Given the description of an element on the screen output the (x, y) to click on. 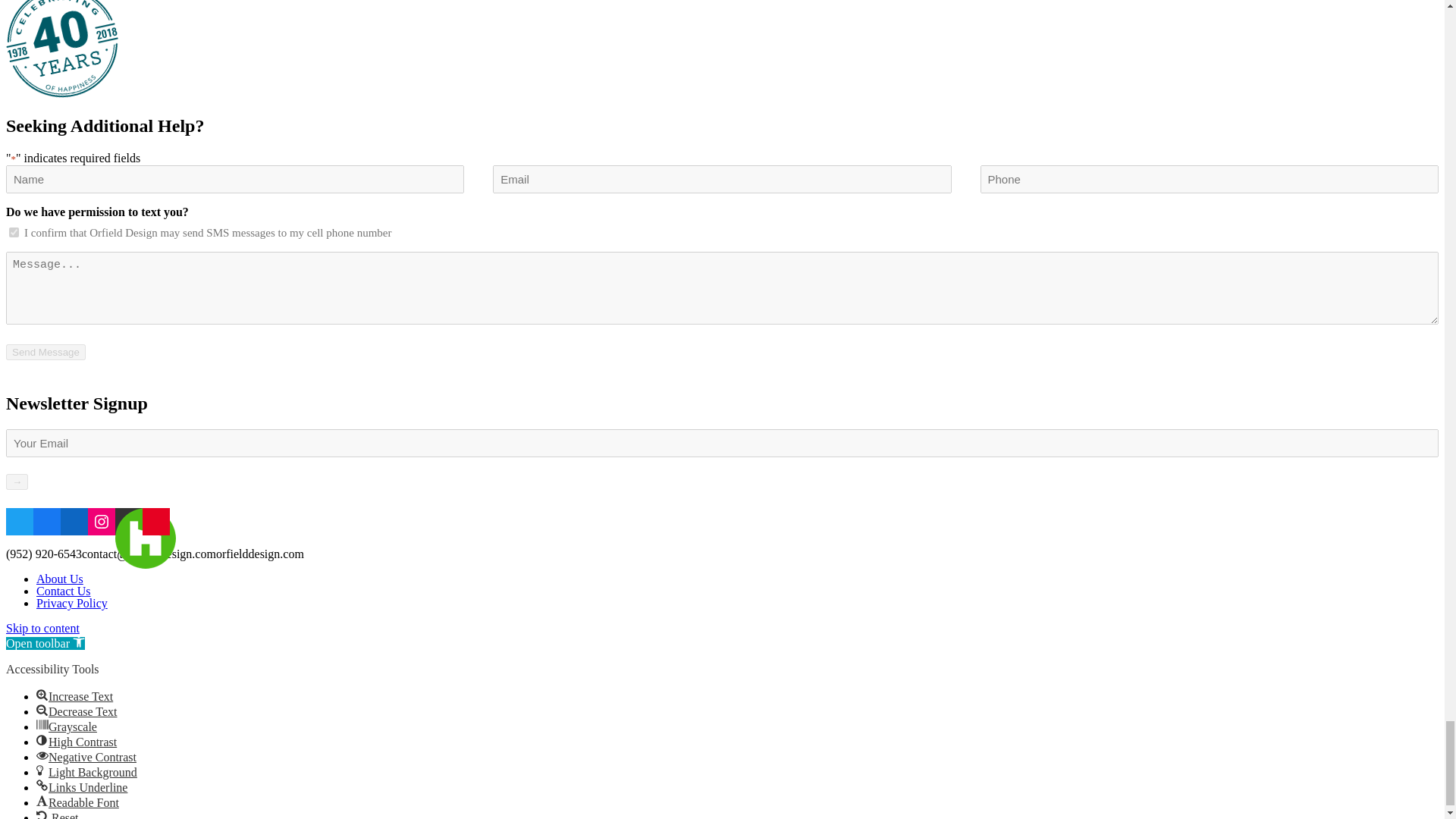
Send Message (45, 351)
Decrease Text (42, 709)
Links Underline (42, 785)
Send Message (45, 351)
Light Background (42, 770)
Negative Contrast (42, 755)
Accessibility Tools (78, 641)
Grayscale (42, 725)
Increase Text (42, 694)
High Contrast (42, 739)
Houzz (145, 537)
Readable Font (42, 800)
Accessibility Tools (44, 643)
About Us (59, 578)
